Given the description of an element on the screen output the (x, y) to click on. 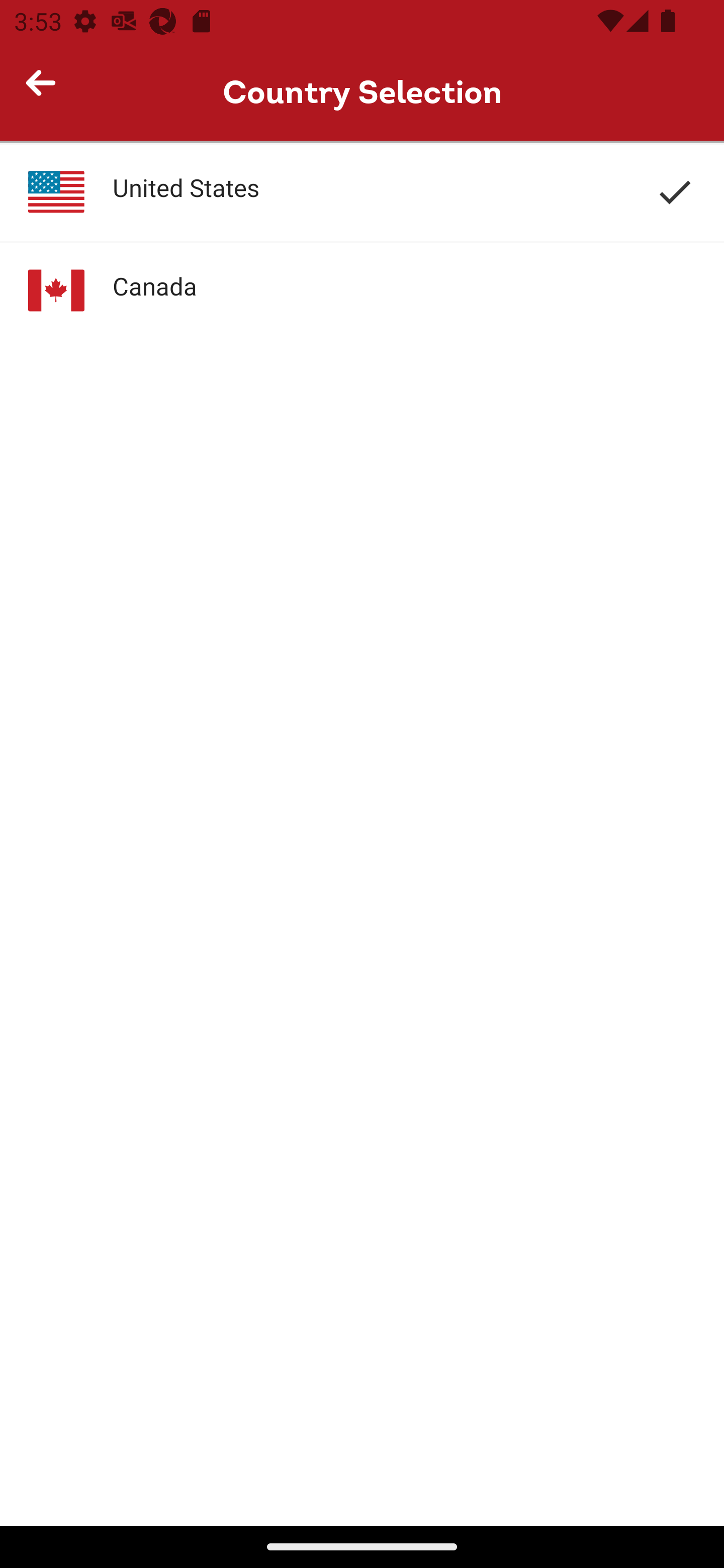
Back (49, 91)
United States (362, 191)
Canada (362, 290)
